Given the description of an element on the screen output the (x, y) to click on. 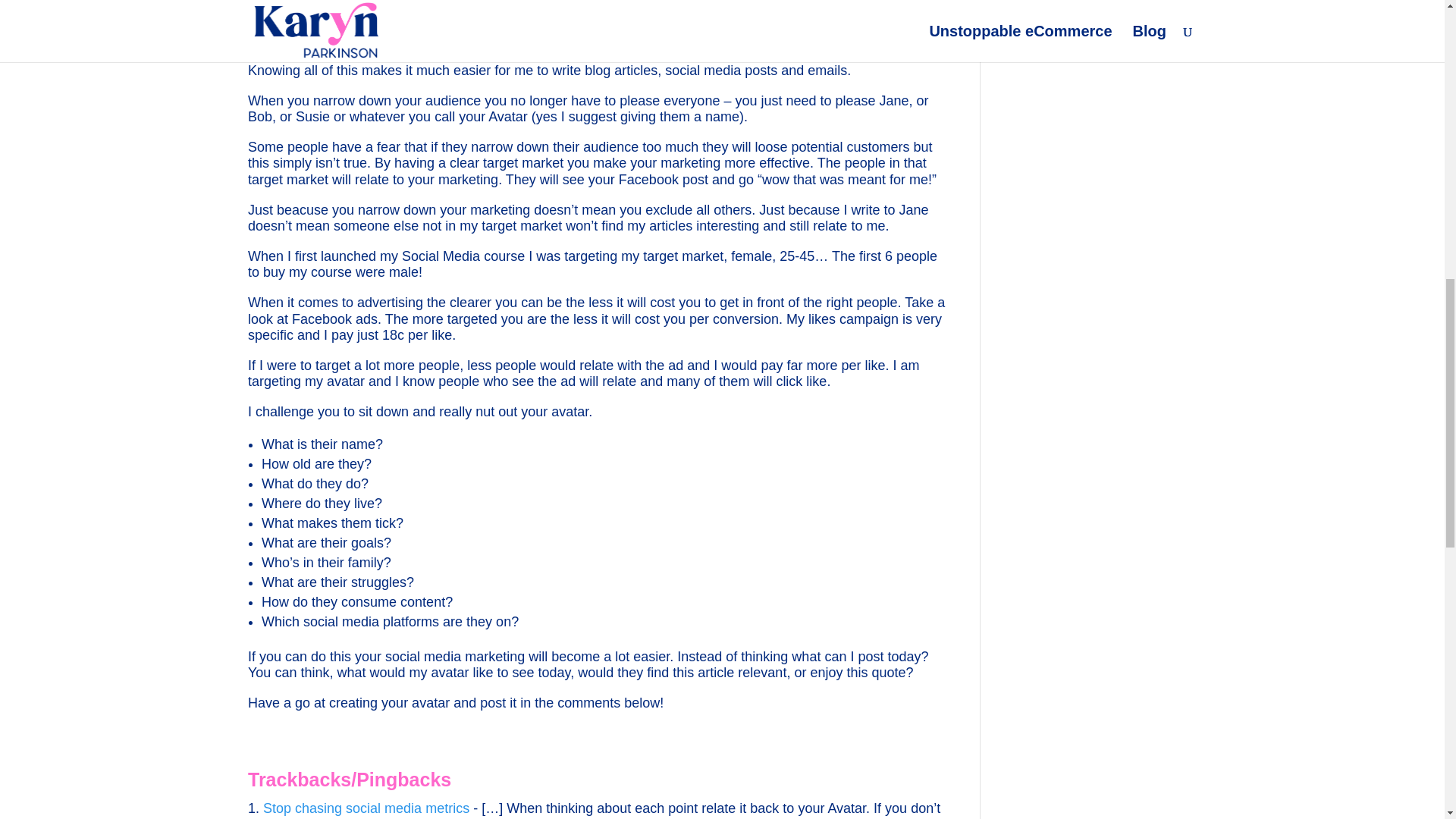
Stop chasing social media metrics (365, 807)
10 key elements to increase your eCommerce conversion rate (1090, 2)
How your eCommerce store can comply with this GDPR thing (1088, 35)
